Given the description of an element on the screen output the (x, y) to click on. 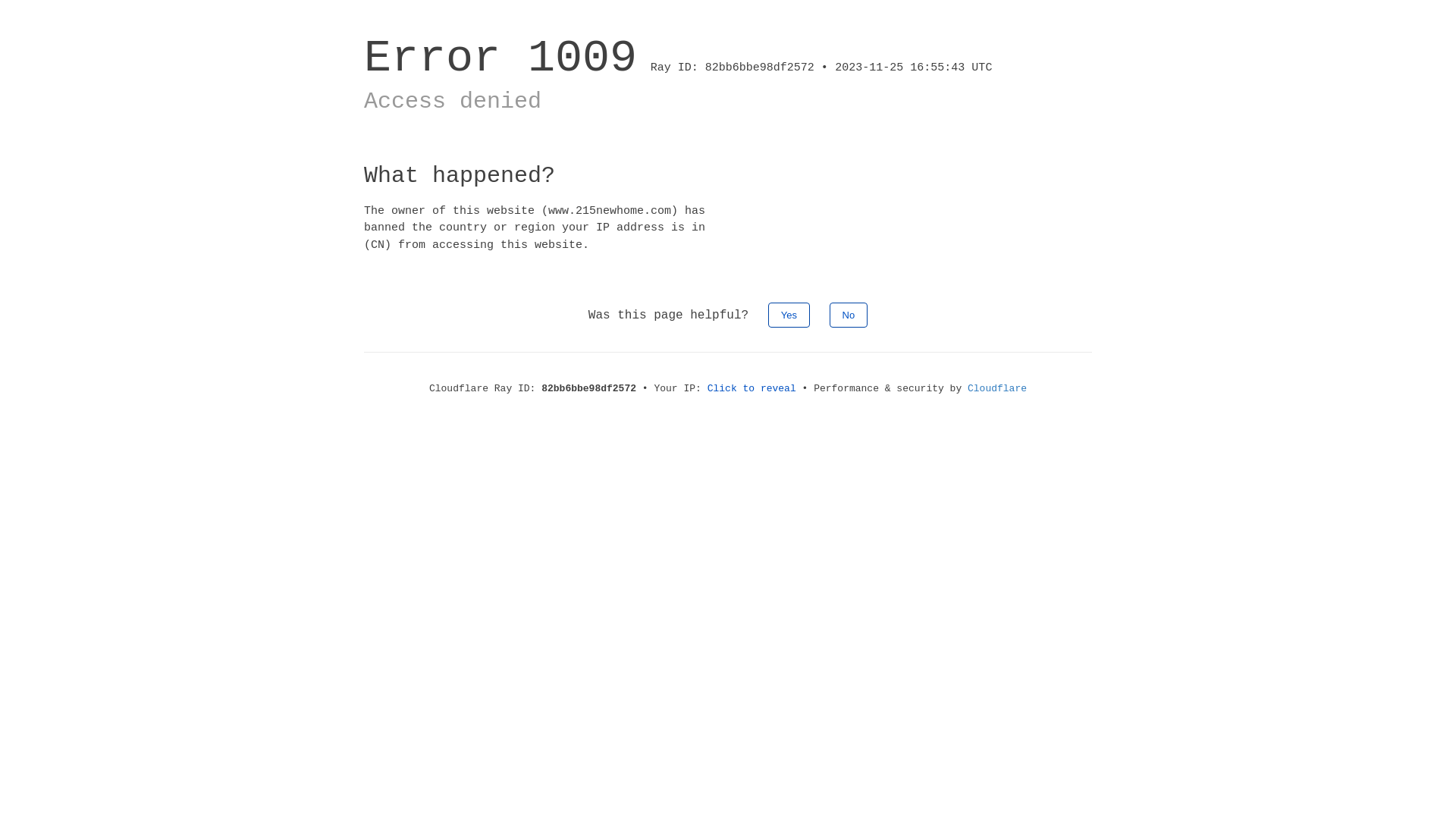
Cloudflare Element type: text (996, 388)
Yes Element type: text (788, 314)
No Element type: text (848, 314)
Click to reveal Element type: text (751, 388)
